Given the description of an element on the screen output the (x, y) to click on. 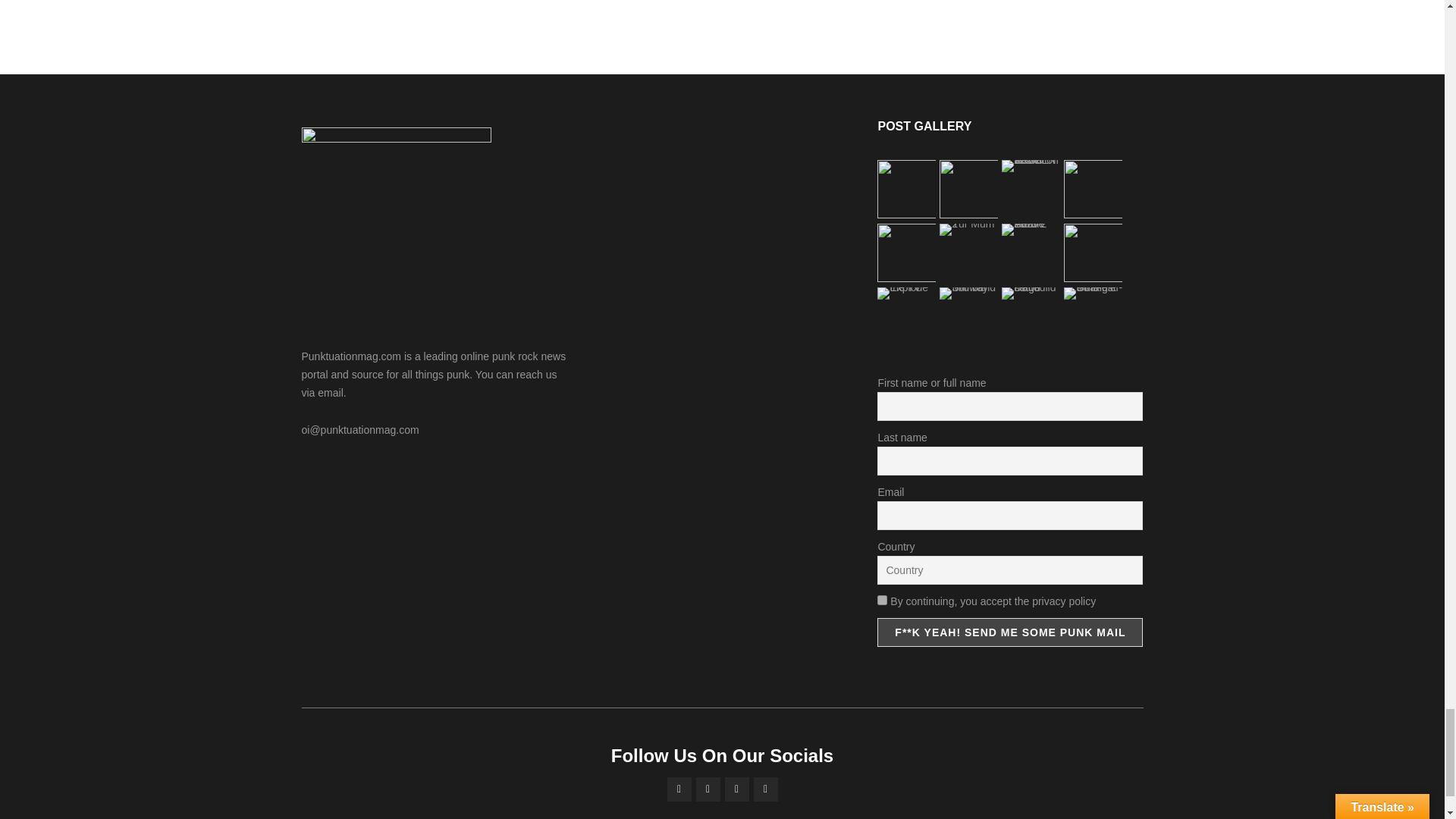
on (881, 600)
